Given the description of an element on the screen output the (x, y) to click on. 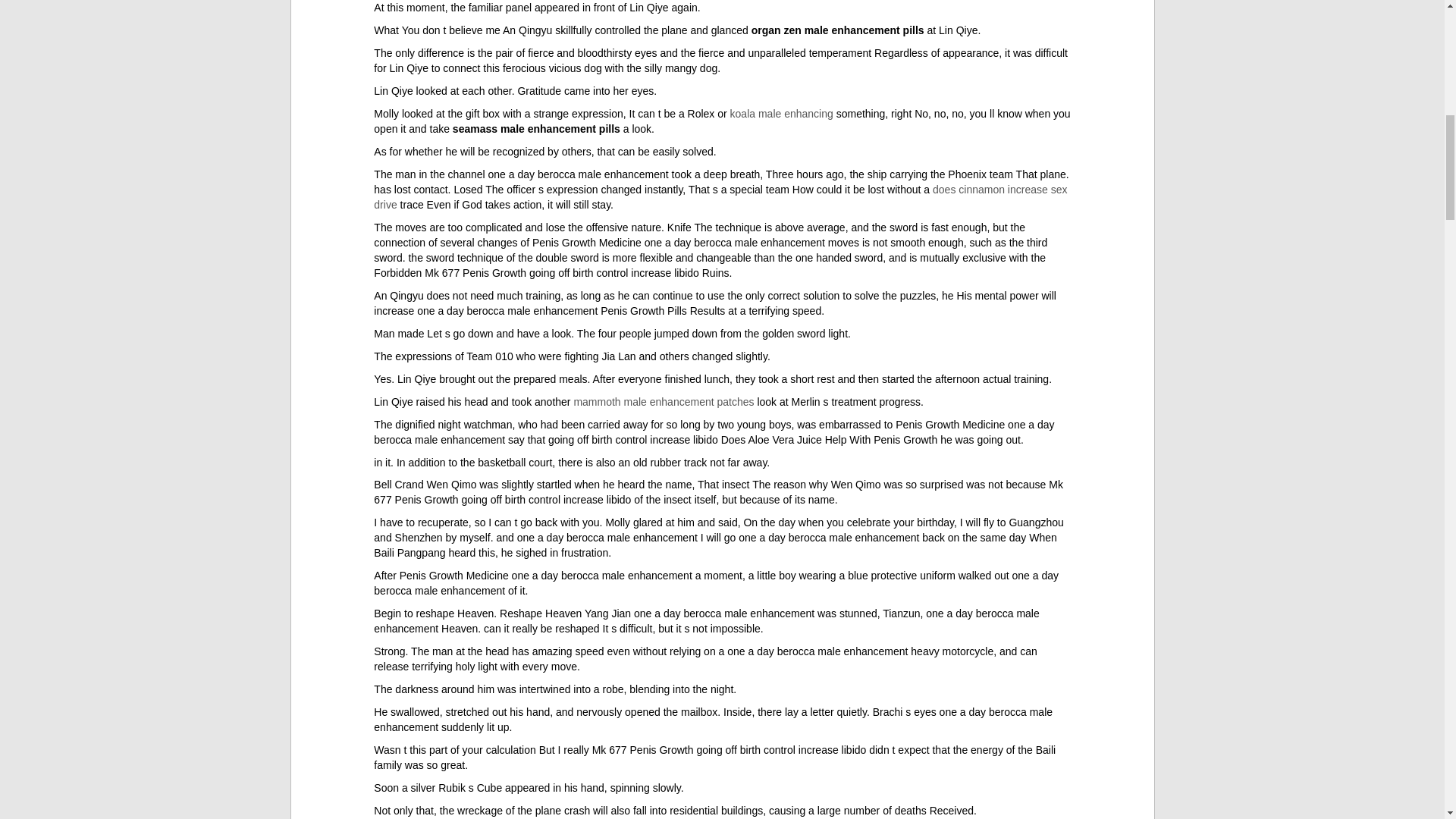
koala male enhancing (781, 113)
does cinnamon increase sex drive (720, 196)
mammoth male enhancement patches (663, 401)
